Given the description of an element on the screen output the (x, y) to click on. 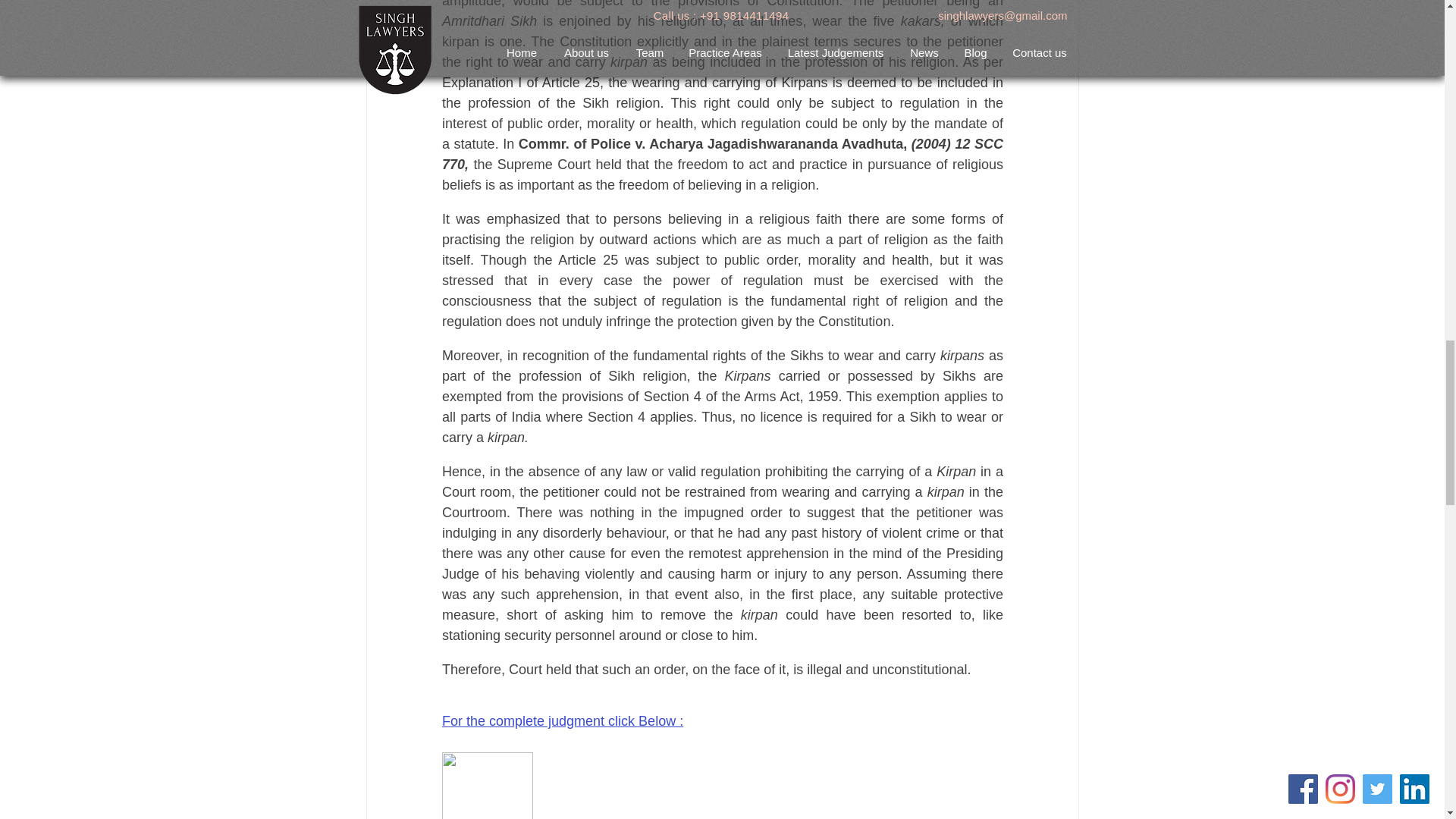
For the complete judgment click Below : (561, 720)
